Given the description of an element on the screen output the (x, y) to click on. 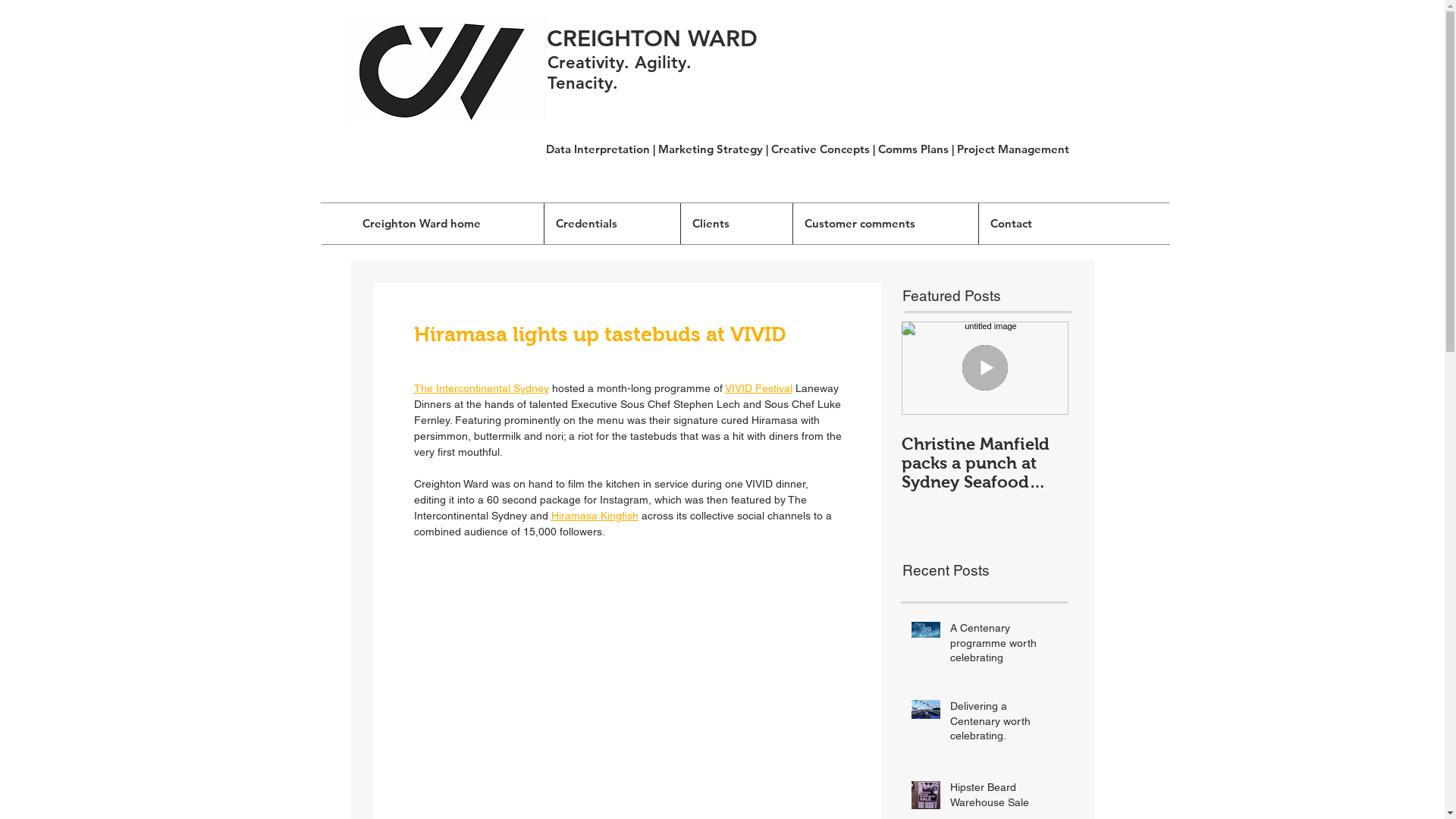
Christine Manfield packs a punch at Sydney Seafood School Element type: text (983, 462)
Clients Element type: text (736, 223)
VIVID Festival Element type: text (758, 388)
Customer comments Element type: text (885, 223)
Creighton Ward home Element type: text (446, 223)
Credentials Element type: text (612, 223)
Screen Shot 2015-10-14 at 3.14.28 pm_edited.jpg Element type: hover (444, 68)
Hipster Beard Warehouse Sale Element type: text (1003, 797)
Hiramasa Kingfish Element type: text (593, 515)
Delivering a Centenary worth celebrating. Element type: text (1003, 724)
A Centenary programme worth celebrating Element type: text (1003, 646)
The Intercontinental Sydney Element type: text (481, 388)
Contact Element type: text (1035, 223)
